Given the description of an element on the screen output the (x, y) to click on. 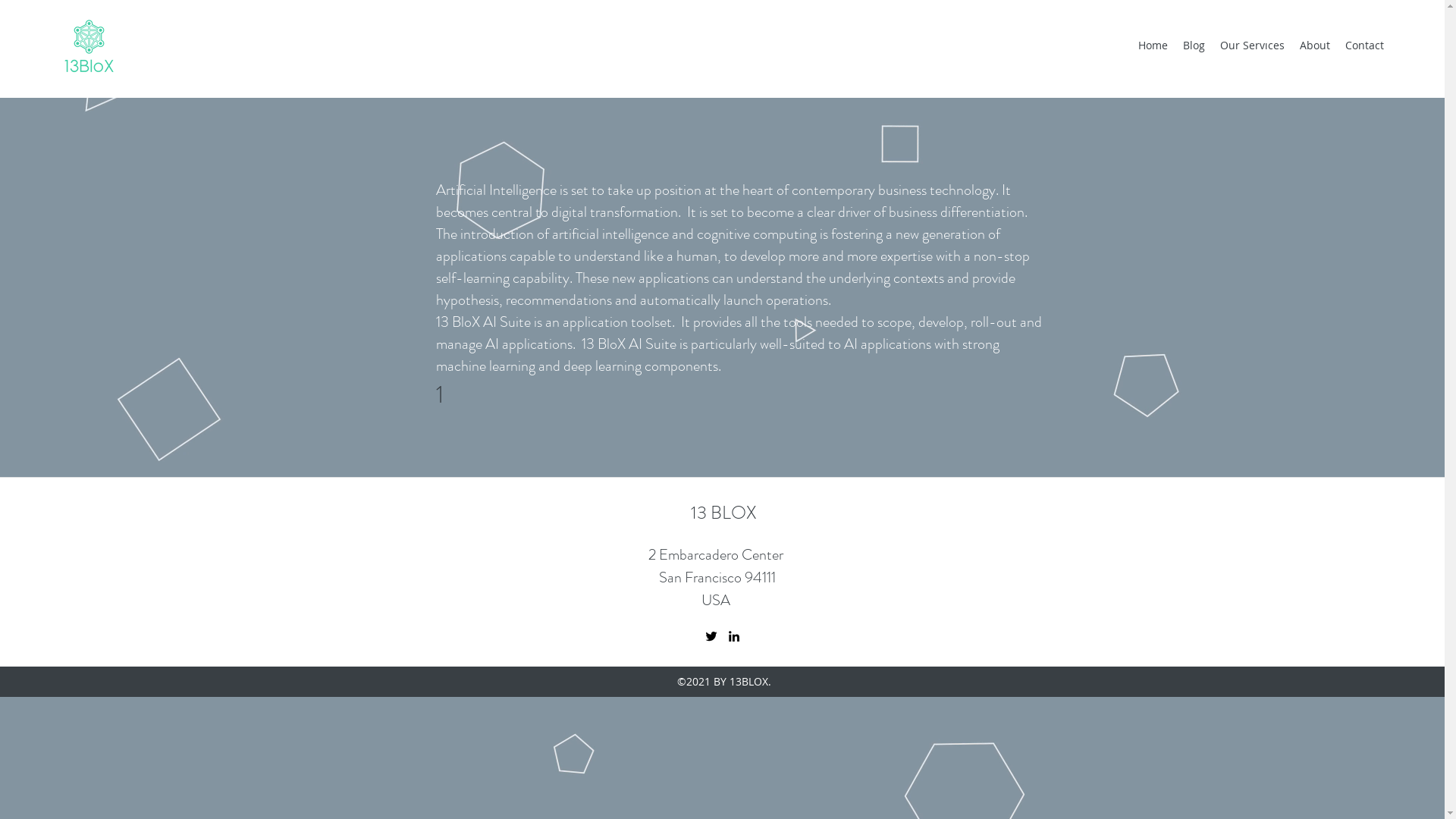
Blog Element type: text (1193, 45)
Home Element type: text (1152, 45)
Contact Element type: text (1364, 45)
About Element type: text (1314, 45)
